Given the description of an element on the screen output the (x, y) to click on. 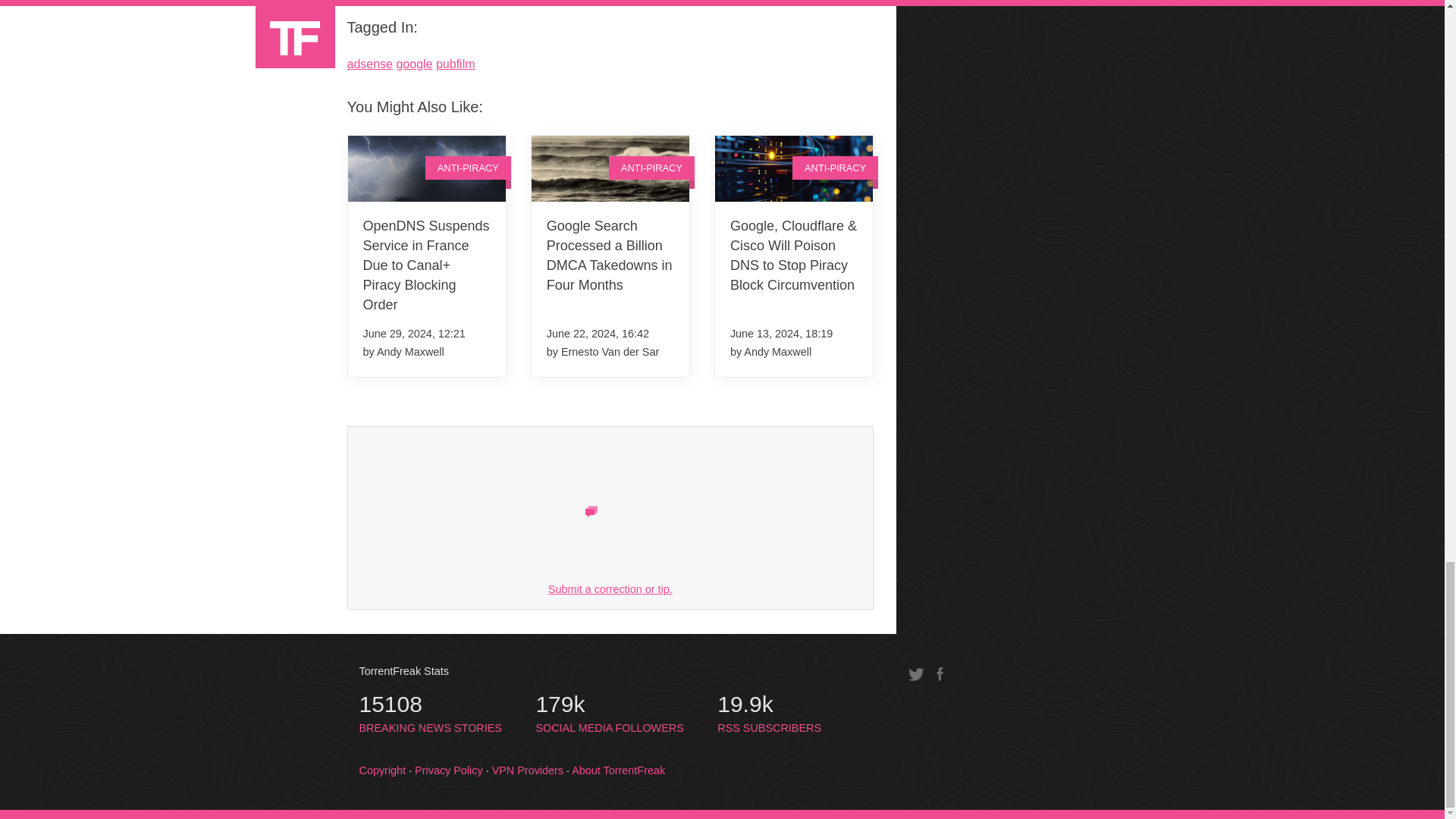
pubfilm (455, 63)
adsense (430, 713)
Submit a correction or tip. (370, 63)
google (610, 589)
